Given the description of an element on the screen output the (x, y) to click on. 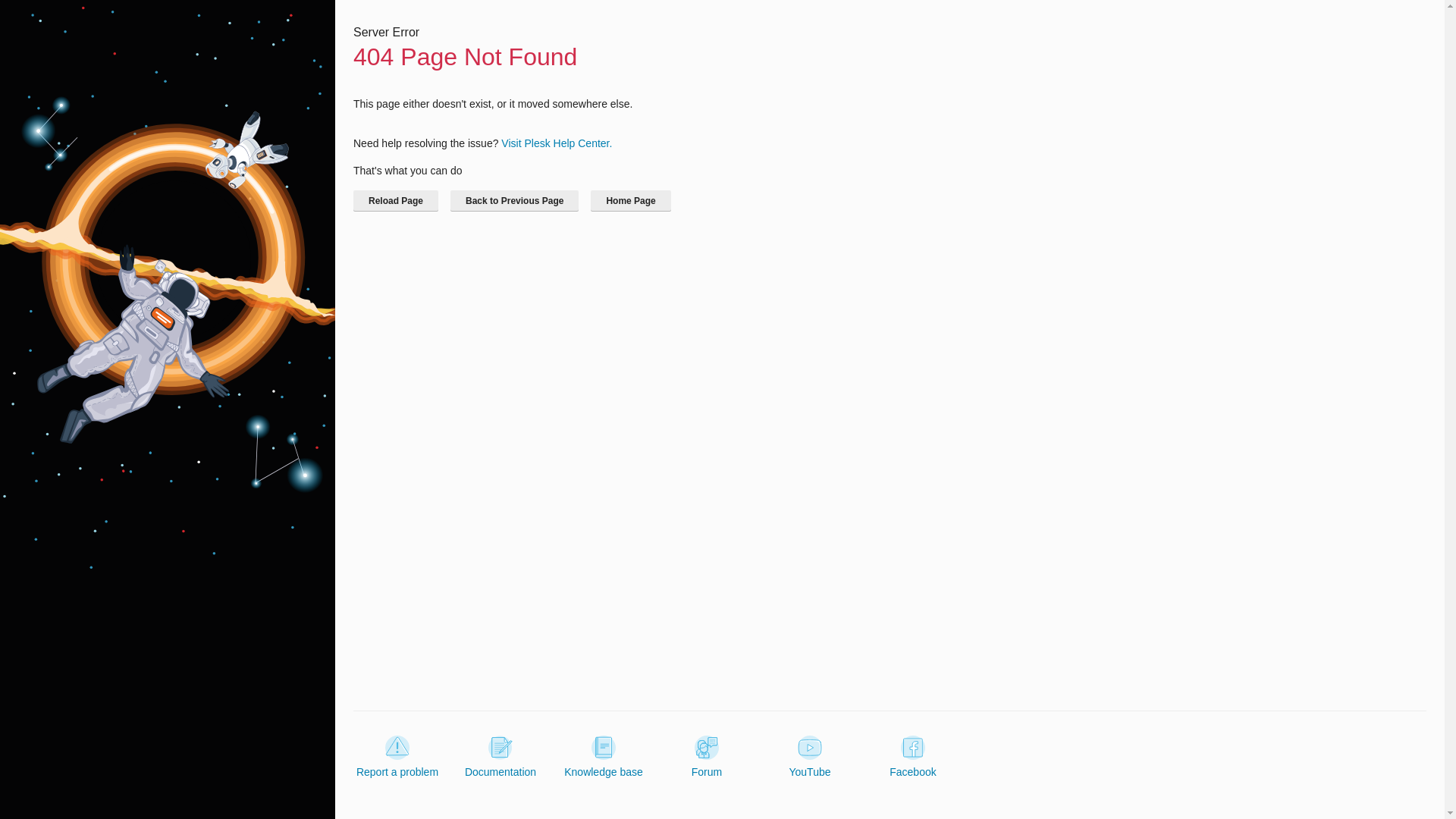
Forum (706, 757)
YouTube (809, 757)
Documentation (500, 757)
Facebook (912, 757)
Knowledge base (603, 757)
Home Page (630, 200)
Back to Previous Page (513, 200)
Visit Plesk Help Center. (555, 143)
Reload Page (395, 200)
Report a problem (397, 757)
